Given the description of an element on the screen output the (x, y) to click on. 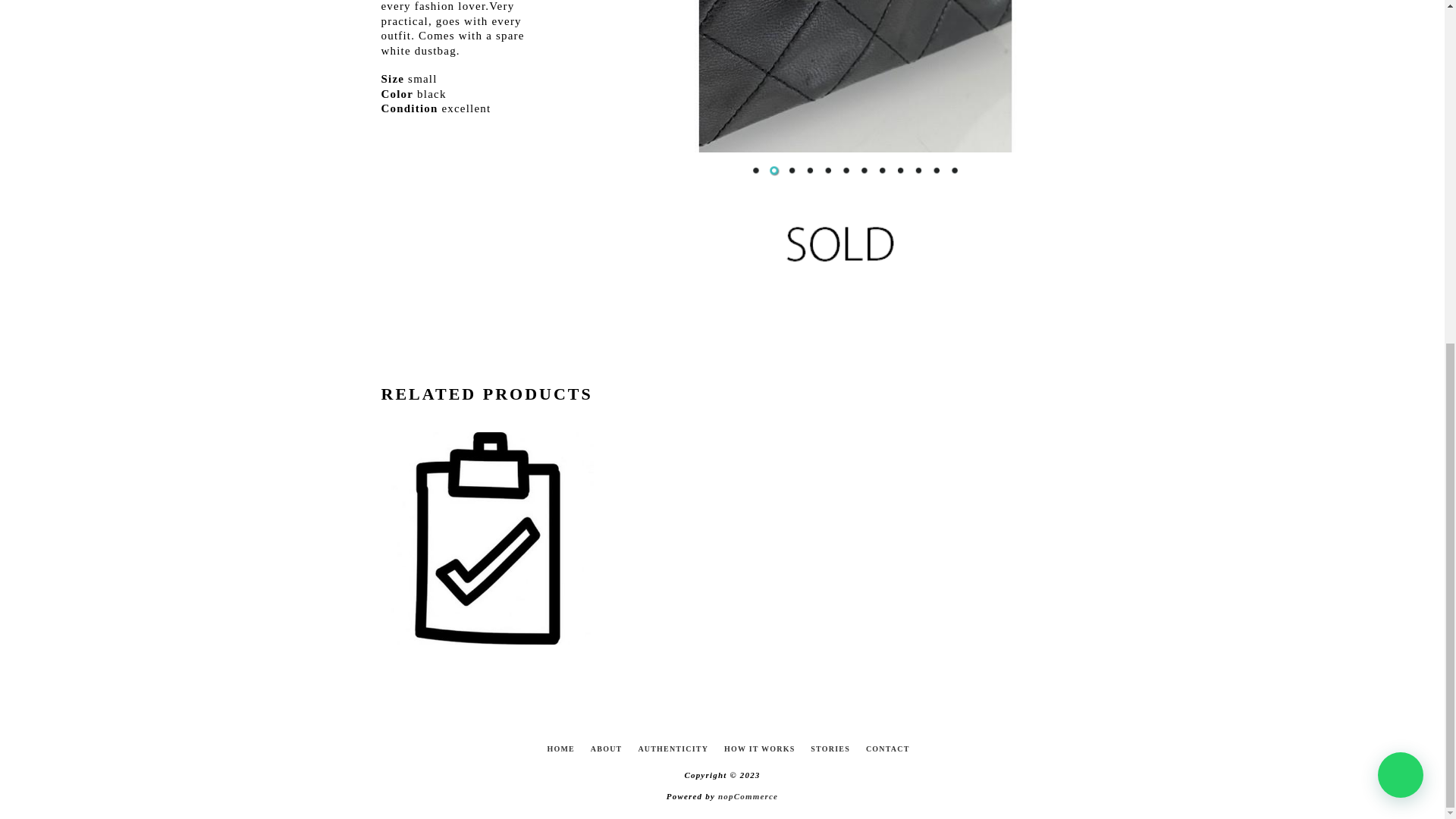
Chanel timeless classic 2.55 crossbody bag (873, 95)
CONTACT (887, 749)
STORIES (830, 749)
HOW IT WORKS (758, 749)
HOME (559, 749)
AUTHENTICITY (672, 749)
nopCommerce (747, 795)
ABOUT (606, 749)
Chanel timeless classic 2.55 crossbody bag (456, 95)
